Given the description of an element on the screen output the (x, y) to click on. 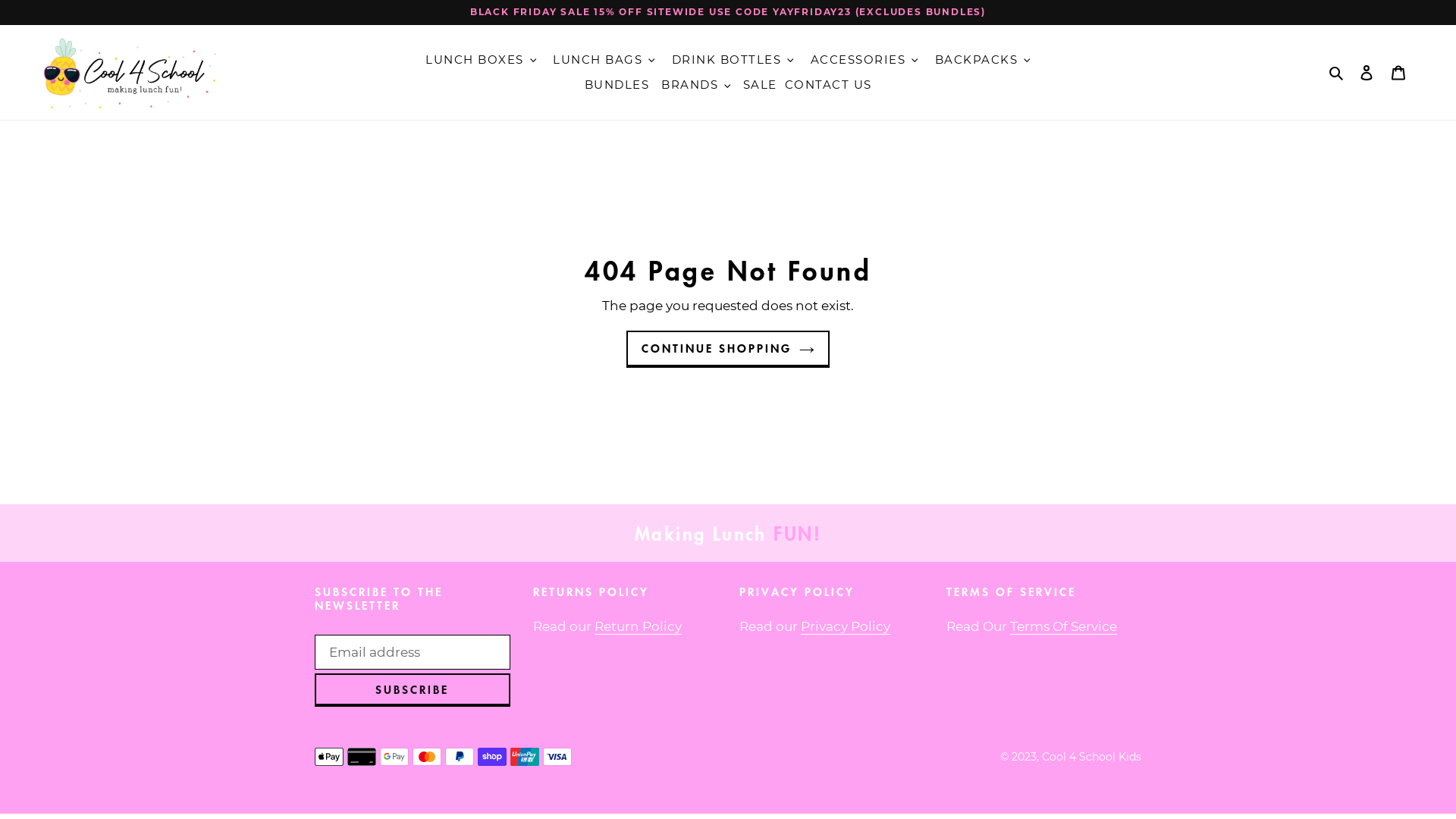
BACKPACKS Element type: text (976, 59)
Search Element type: text (1337, 72)
Return Policy Element type: text (637, 626)
LUNCH BOXES Element type: text (480, 59)
Privacy Policy Element type: text (845, 626)
Terms Of Service Element type: text (1063, 626)
BUNDLES Element type: text (616, 85)
LUNCH BAGS Element type: text (603, 59)
LUNCH BAGS Element type: text (597, 59)
CONTACT US Element type: text (827, 85)
BRANDS Element type: text (689, 84)
BRANDS Element type: text (695, 84)
Log in Element type: text (1366, 72)
Cool 4 School Kids Element type: text (1091, 756)
ACCESSORIES Element type: text (864, 59)
BACKPACKS Element type: text (982, 59)
CONTINUE SHOPPING Element type: text (727, 348)
Cart Element type: text (1398, 72)
DRINK BOTTLES Element type: text (726, 59)
DRINK BOTTLES Element type: text (732, 59)
LUNCH BOXES Element type: text (474, 59)
ACCESSORIES Element type: text (858, 59)
SALE Element type: text (760, 85)
SUBSCRIBE Element type: text (412, 690)
